Given the description of an element on the screen output the (x, y) to click on. 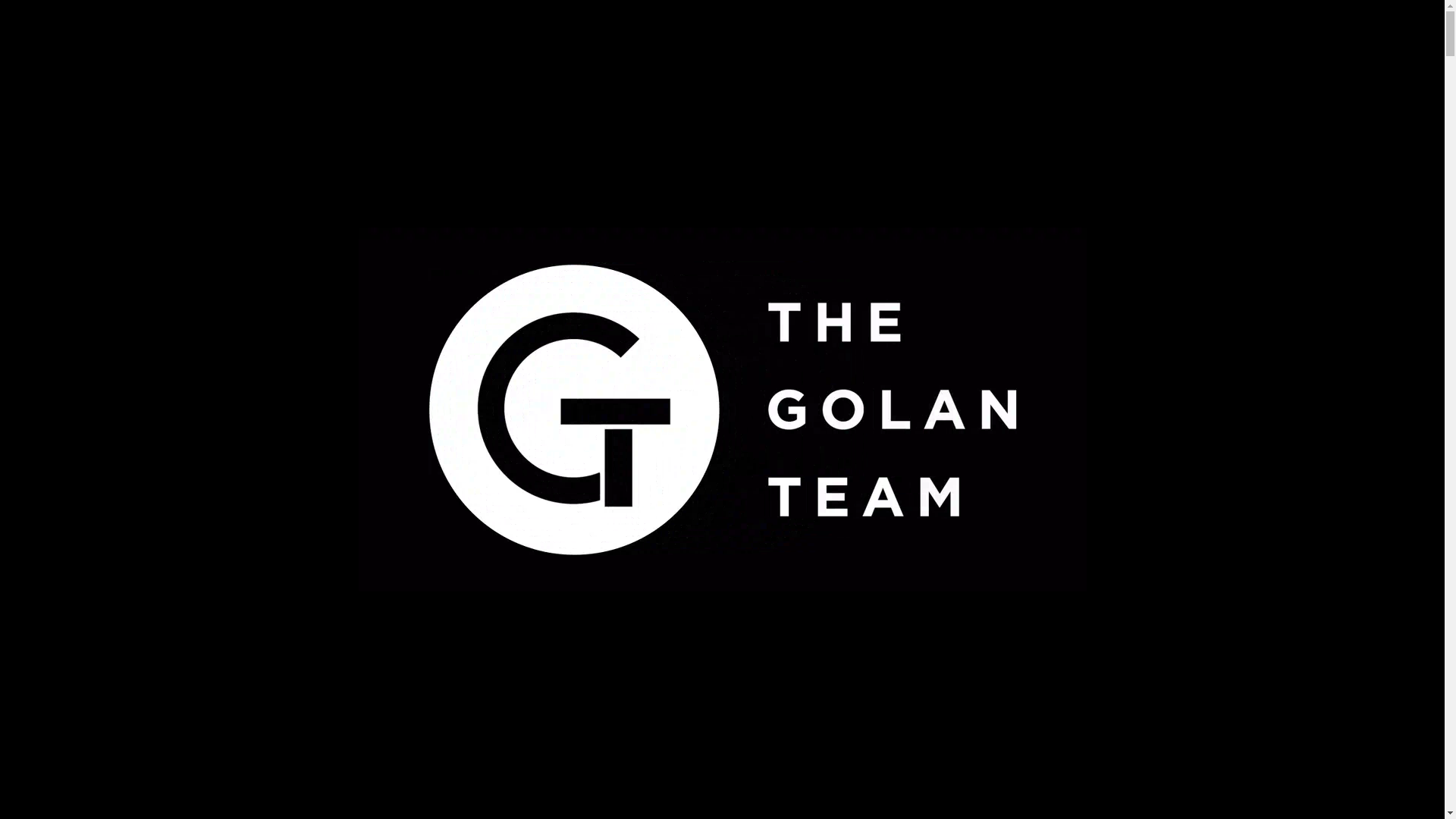
Menu (197, 35)
718.454.5400 (1230, 35)
Properties (276, 35)
Menu (187, 35)
Home Valuation (385, 35)
Social Media (1028, 35)
Contact Us (1131, 35)
